Given the description of an element on the screen output the (x, y) to click on. 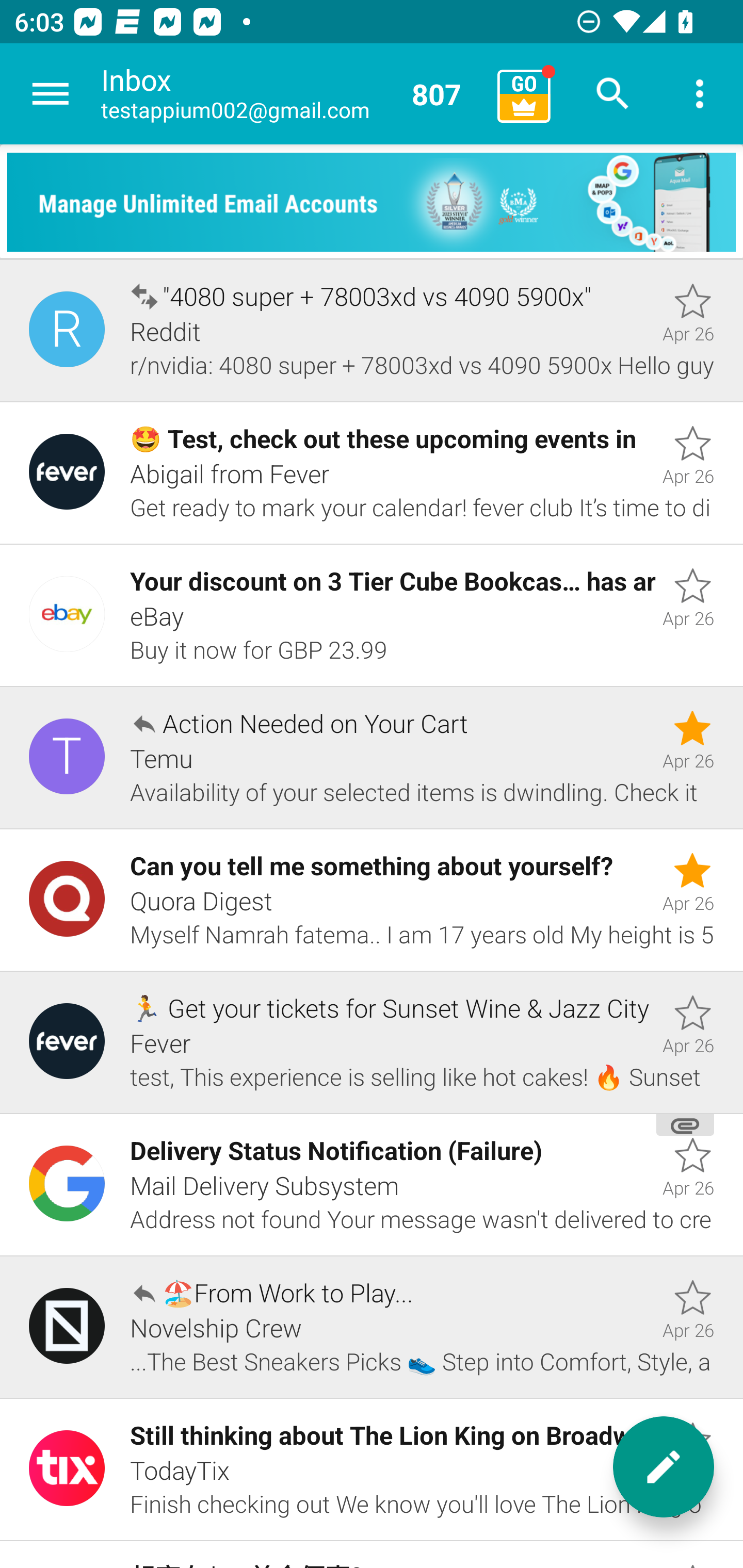
Navigate up (50, 93)
Inbox testappium002@gmail.com 807 (291, 93)
Search (612, 93)
More options (699, 93)
New message (663, 1466)
